Given the description of an element on the screen output the (x, y) to click on. 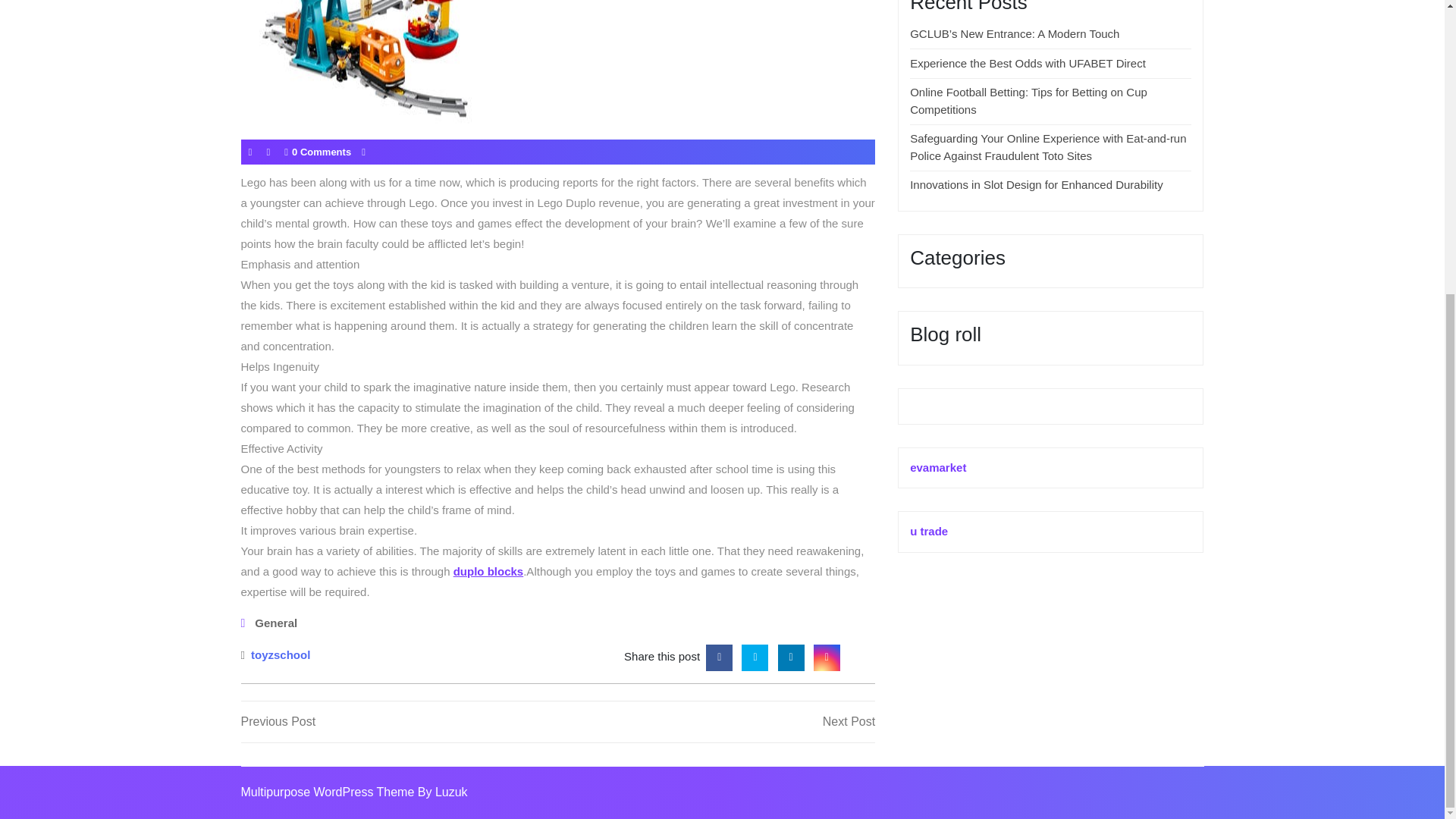
Experience the Best Odds with UFABET Direct (1027, 62)
duplo blocks (488, 570)
Facebook (719, 655)
evamarket (938, 467)
Instagram (826, 655)
General (275, 622)
Linkedin (791, 655)
